Given the description of an element on the screen output the (x, y) to click on. 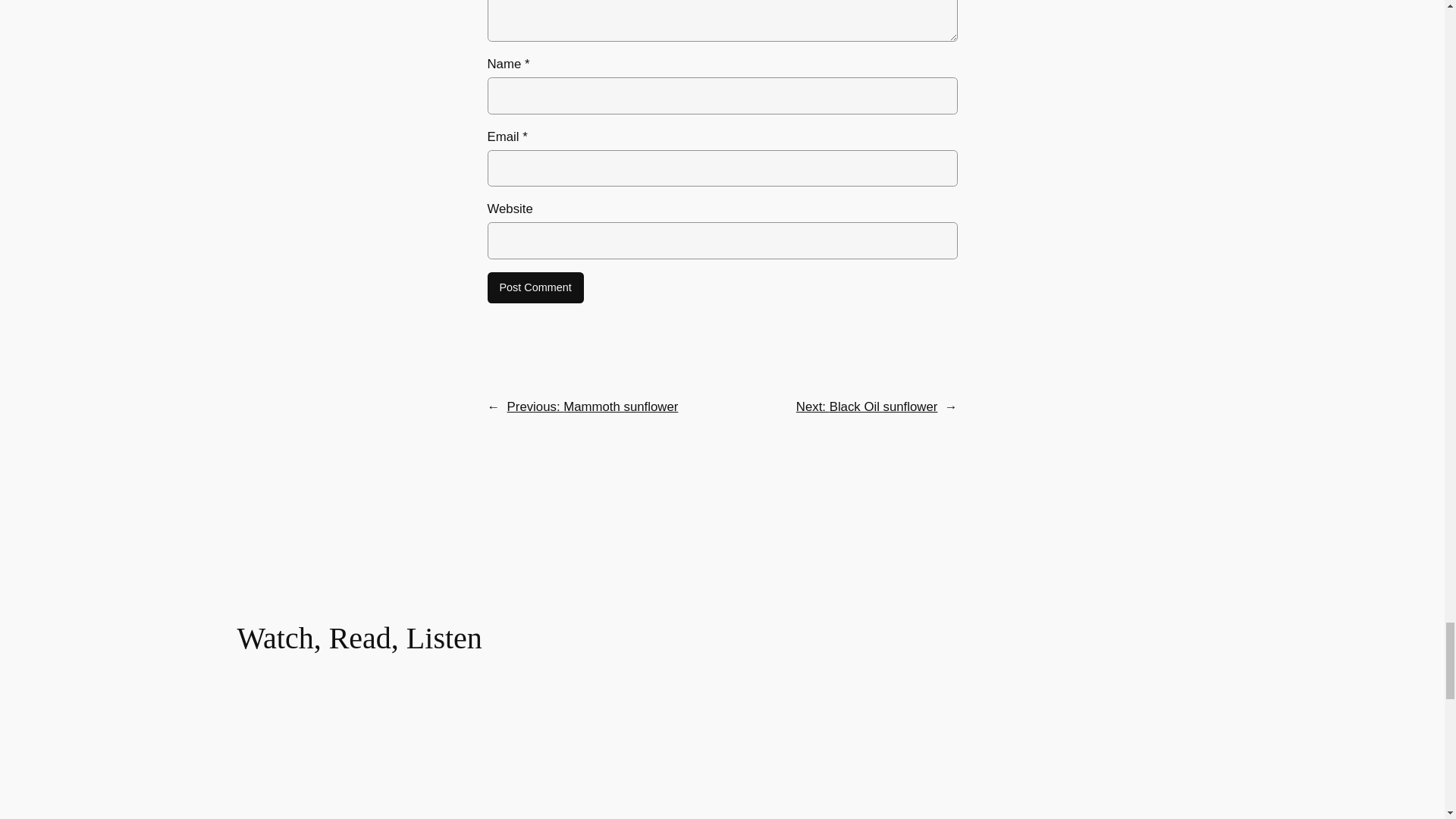
Post Comment (534, 287)
Next: Black Oil sunflower (866, 406)
Post Comment (534, 287)
Previous: Mammoth sunflower (592, 406)
